Given the description of an element on the screen output the (x, y) to click on. 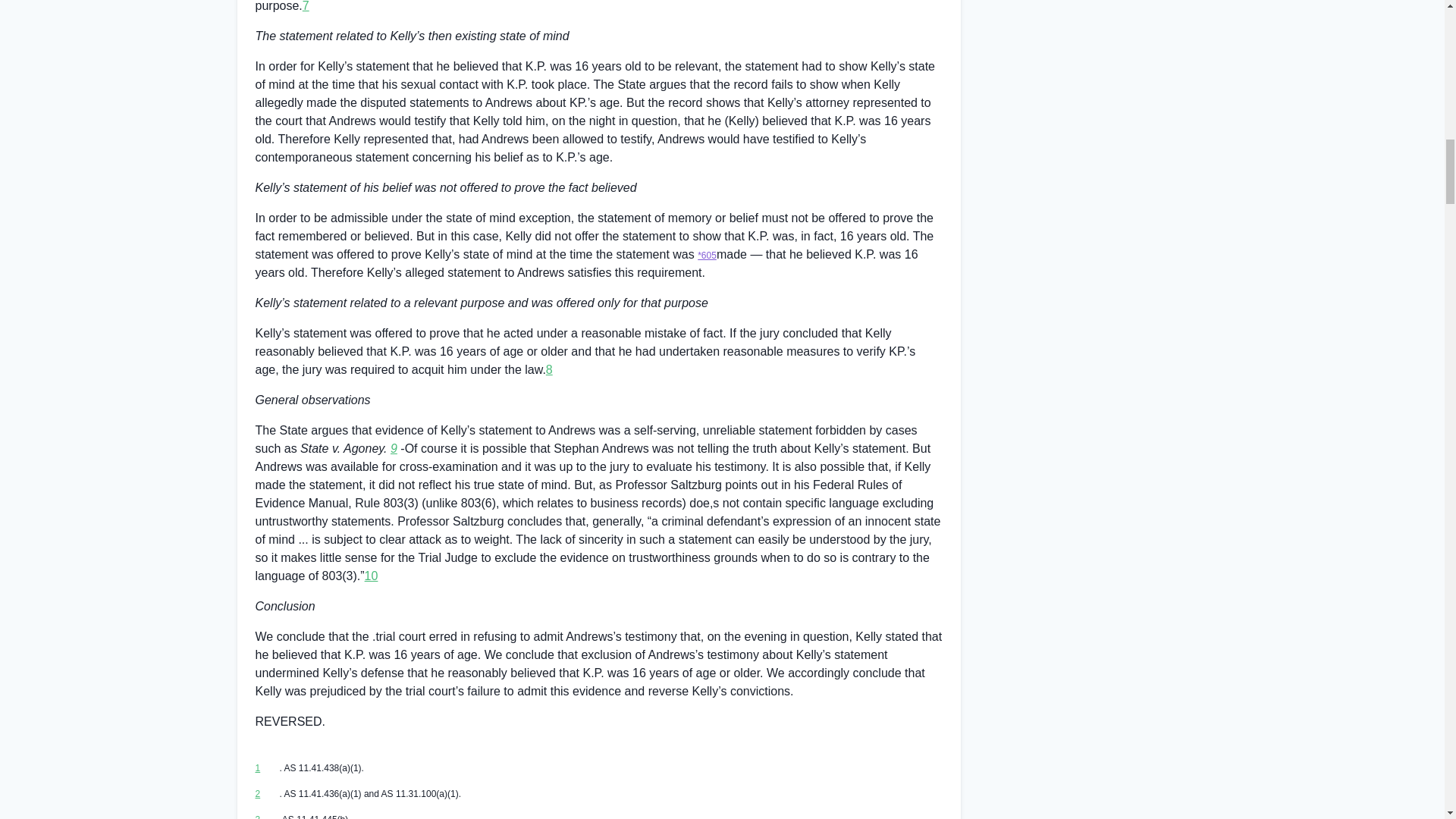
10 (371, 575)
